Given the description of an element on the screen output the (x, y) to click on. 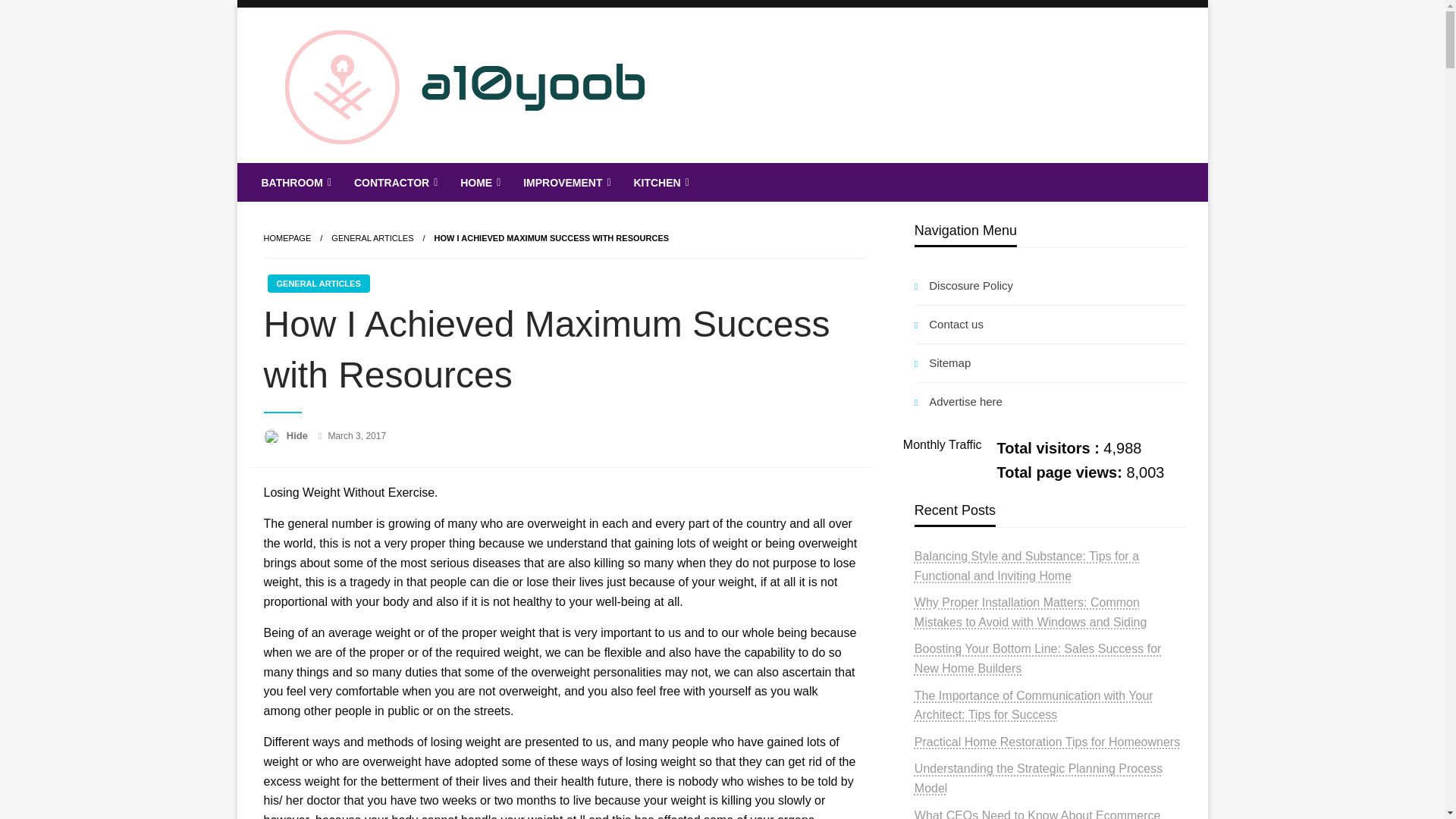
Homepage (287, 237)
HOME (478, 182)
General Articles (372, 237)
March 3, 2017 (356, 435)
HOMEPAGE (287, 237)
GENERAL ARTICLES (317, 283)
GENERAL ARTICLES (372, 237)
Hide (298, 435)
How I Achieved Maximum Success with Resources (550, 237)
Hide (298, 435)
